Given the description of an element on the screen output the (x, y) to click on. 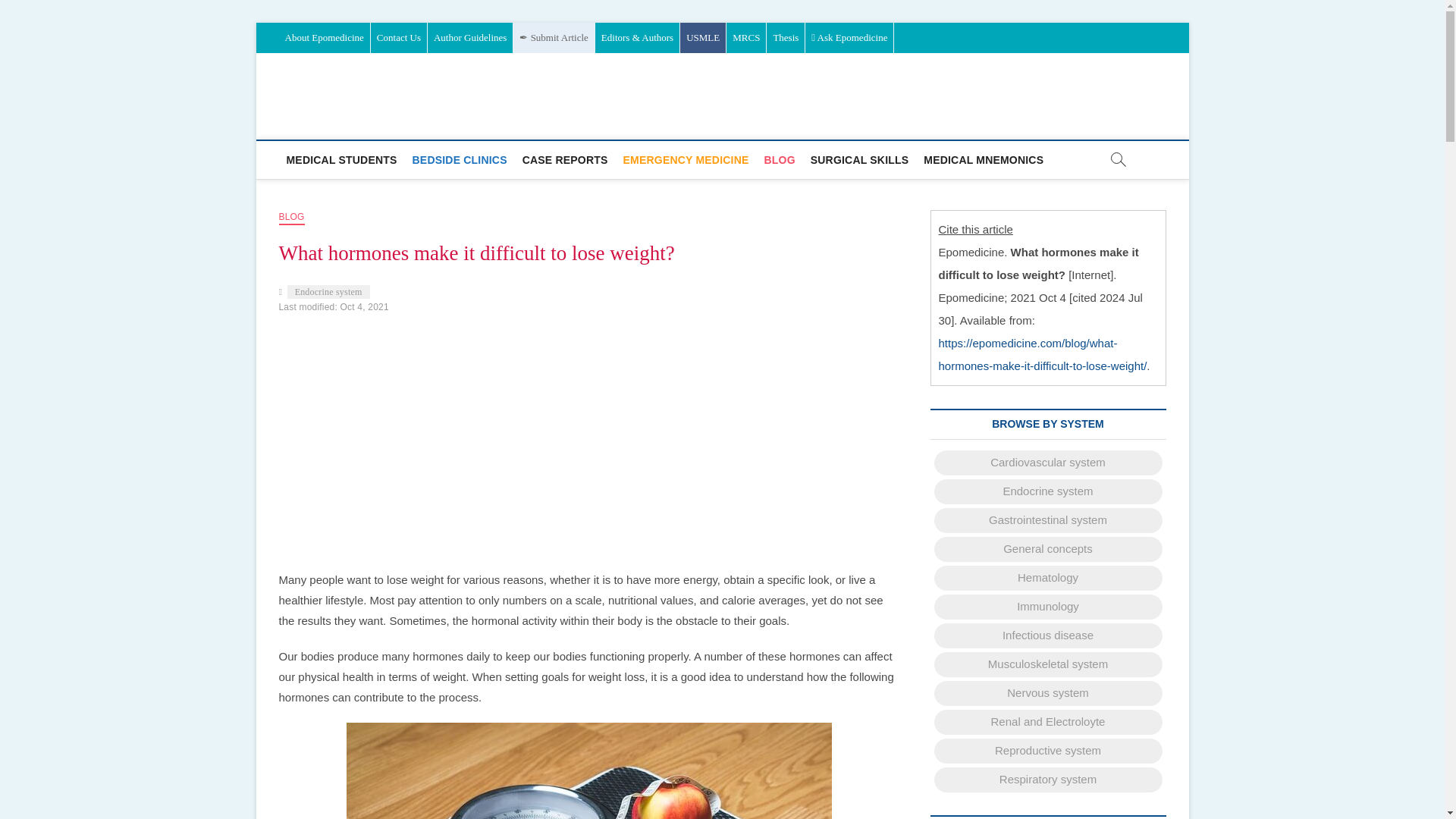
USMLE (702, 37)
MEDICAL MNEMONICS (983, 159)
BLOG (778, 159)
Author Guidelines (470, 37)
Author Guidelines (470, 37)
Contact (398, 37)
MRCS (745, 37)
BEDSIDE CLINICS (459, 159)
Contact Us (398, 37)
BLOG (291, 218)
Clinical discussions (565, 159)
MRCS (745, 37)
Epomedicine (516, 103)
Epomedicine (516, 103)
About Epomedicine (324, 37)
